Given the description of an element on the screen output the (x, y) to click on. 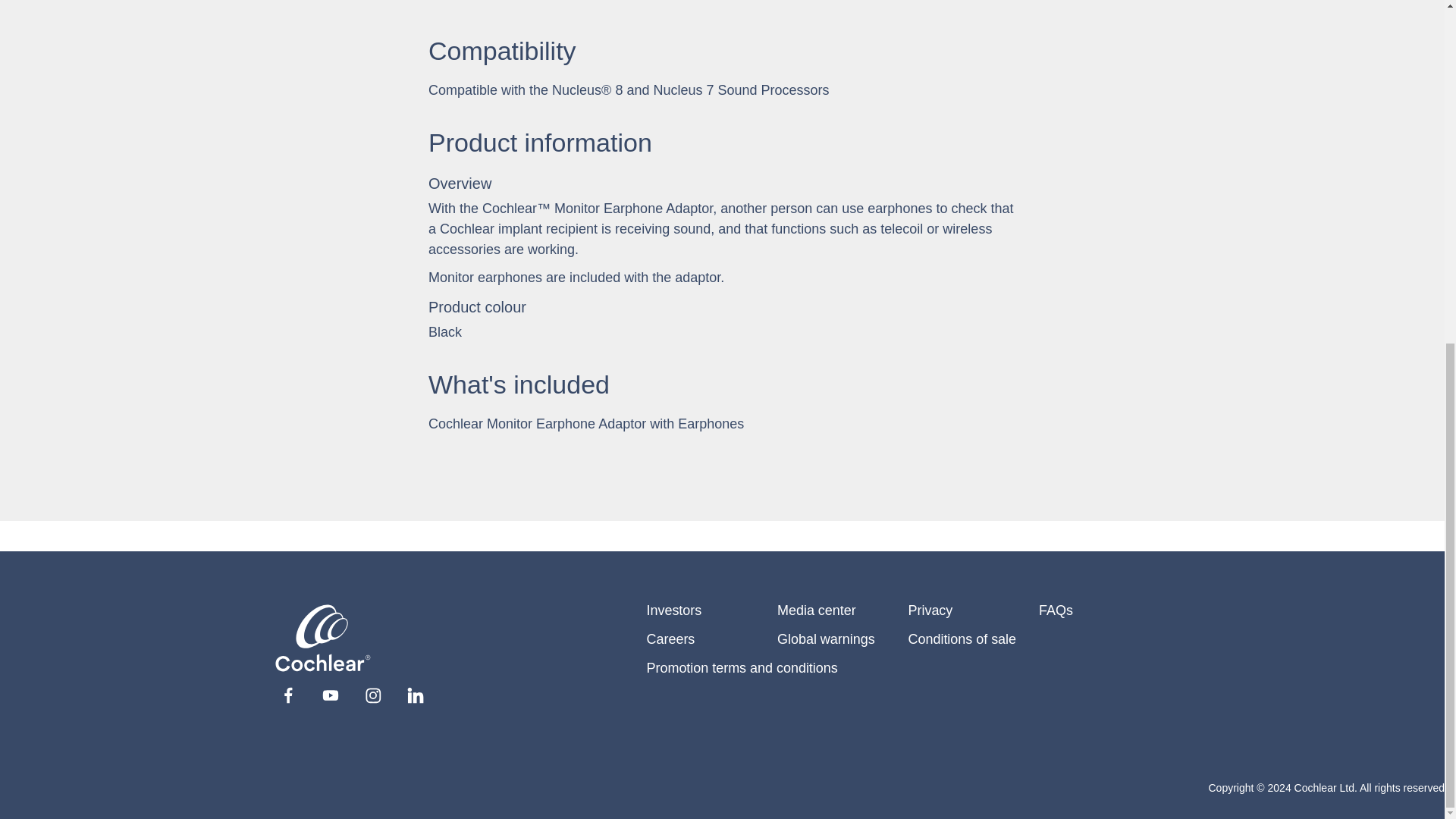
Instagram (372, 695)
LinkedIn (414, 695)
Facebook (287, 695)
Cochlear (323, 638)
Youtube (329, 695)
